Given the description of an element on the screen output the (x, y) to click on. 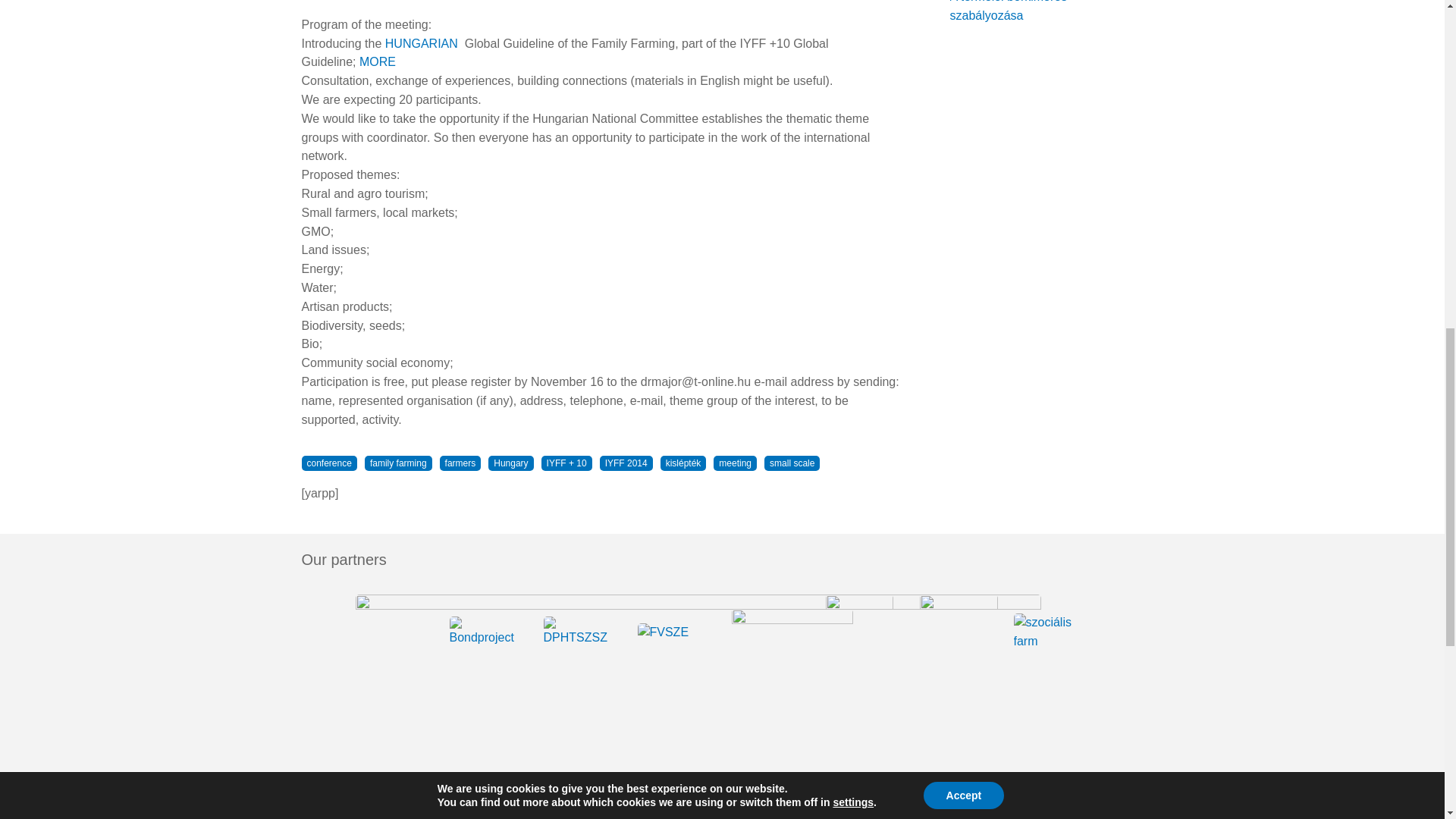
farmers (460, 462)
HUNGARIAN  (423, 42)
IYFF 2014 (625, 462)
conference (328, 462)
family farming (398, 462)
MORE (377, 61)
meeting (735, 462)
Hungary (509, 462)
small scale (791, 462)
